Given the description of an element on the screen output the (x, y) to click on. 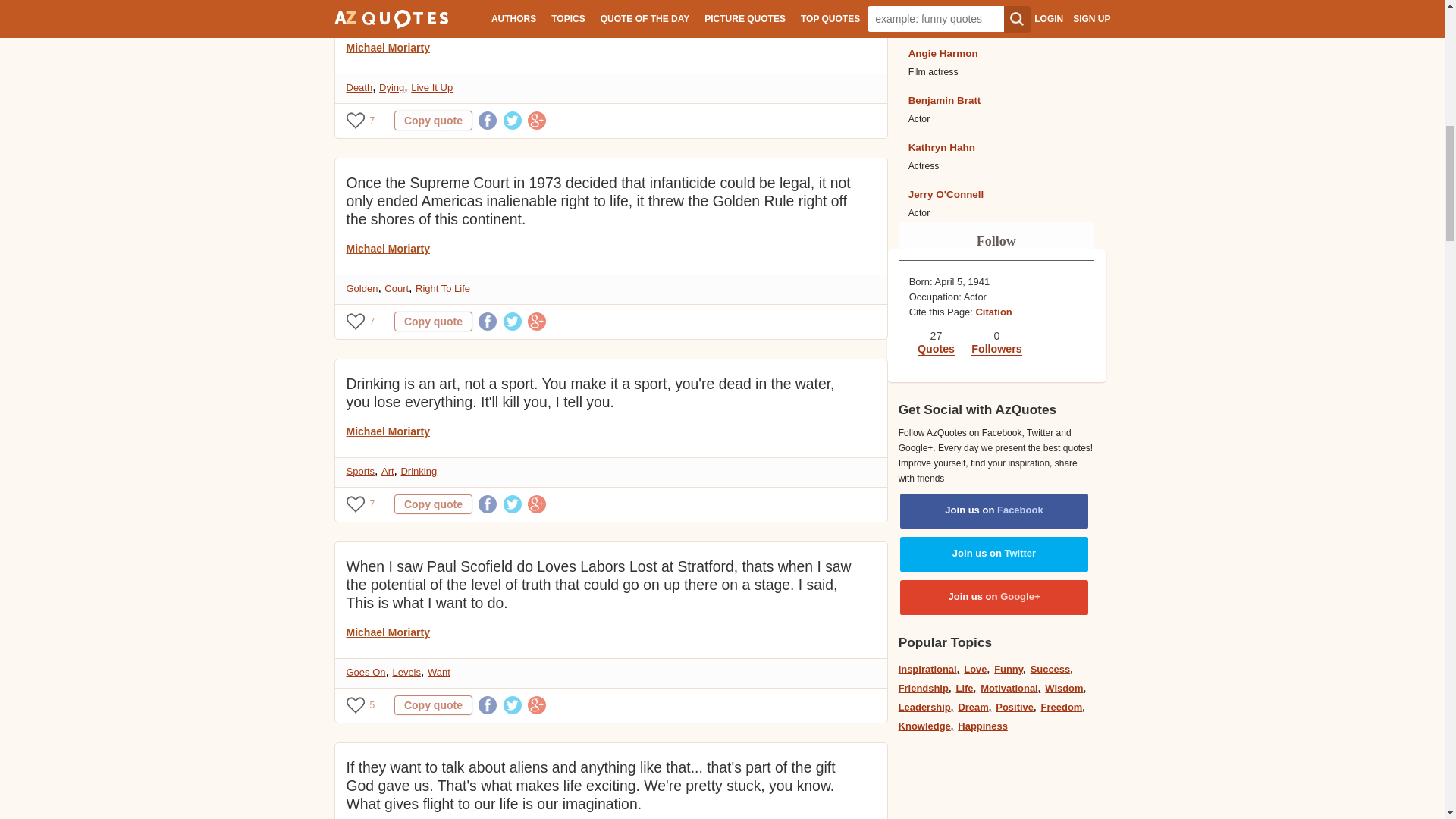
Quote is copied (432, 504)
Quote is copied (432, 120)
Quote is copied (432, 321)
Quote is copied (432, 704)
